Given the description of an element on the screen output the (x, y) to click on. 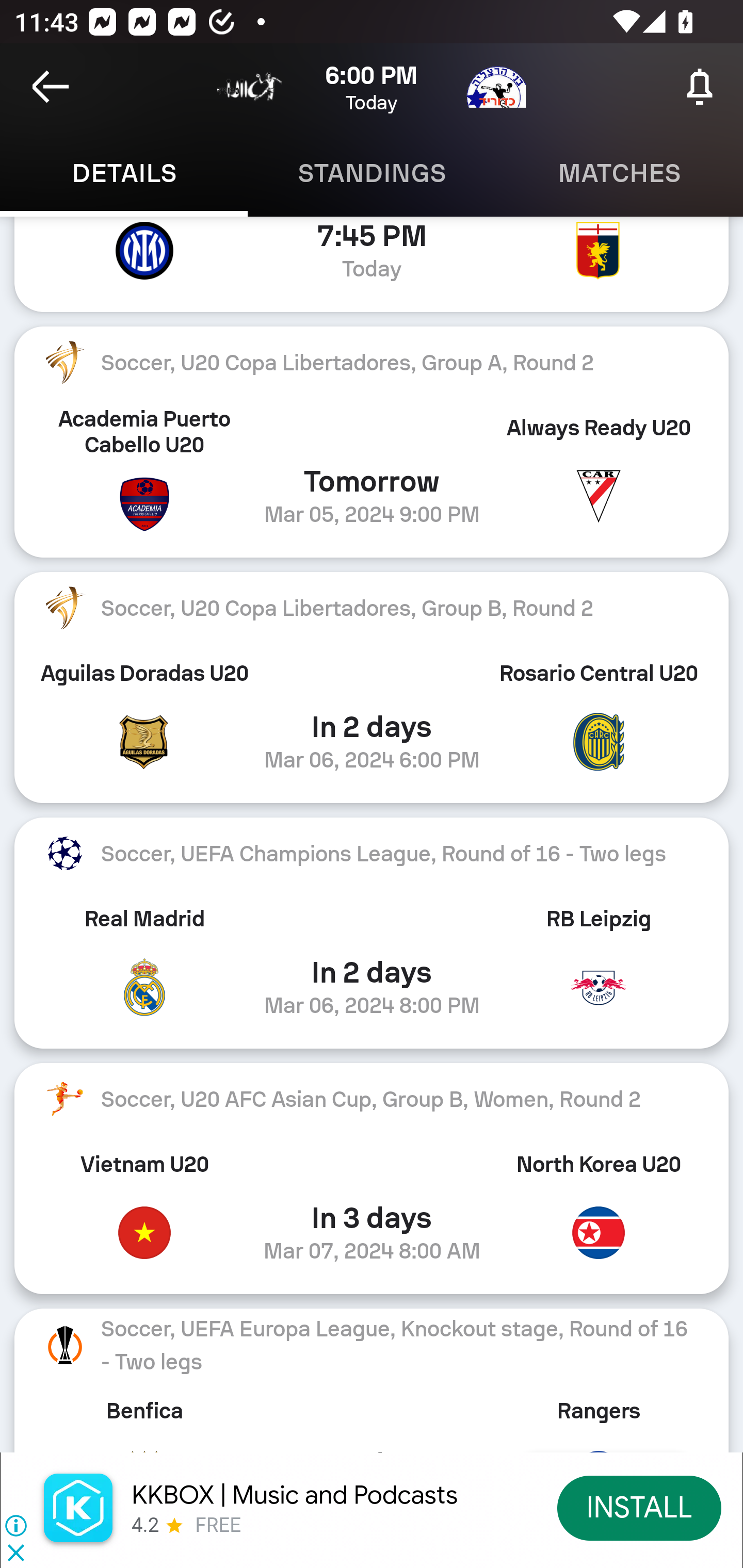
Navigate up (50, 86)
Standings STANDINGS (371, 173)
Matches MATCHES (619, 173)
Soccer, U20 Copa Libertadores, Group A, Round 2 (371, 362)
Soccer, U20 Copa Libertadores, Group B, Round 2 (371, 608)
Soccer, U20 AFC Asian Cup, Group B, Women, Round 2 (371, 1099)
INSTALL (639, 1507)
KKBOX | Music and Podcasts (294, 1494)
